Given the description of an element on the screen output the (x, y) to click on. 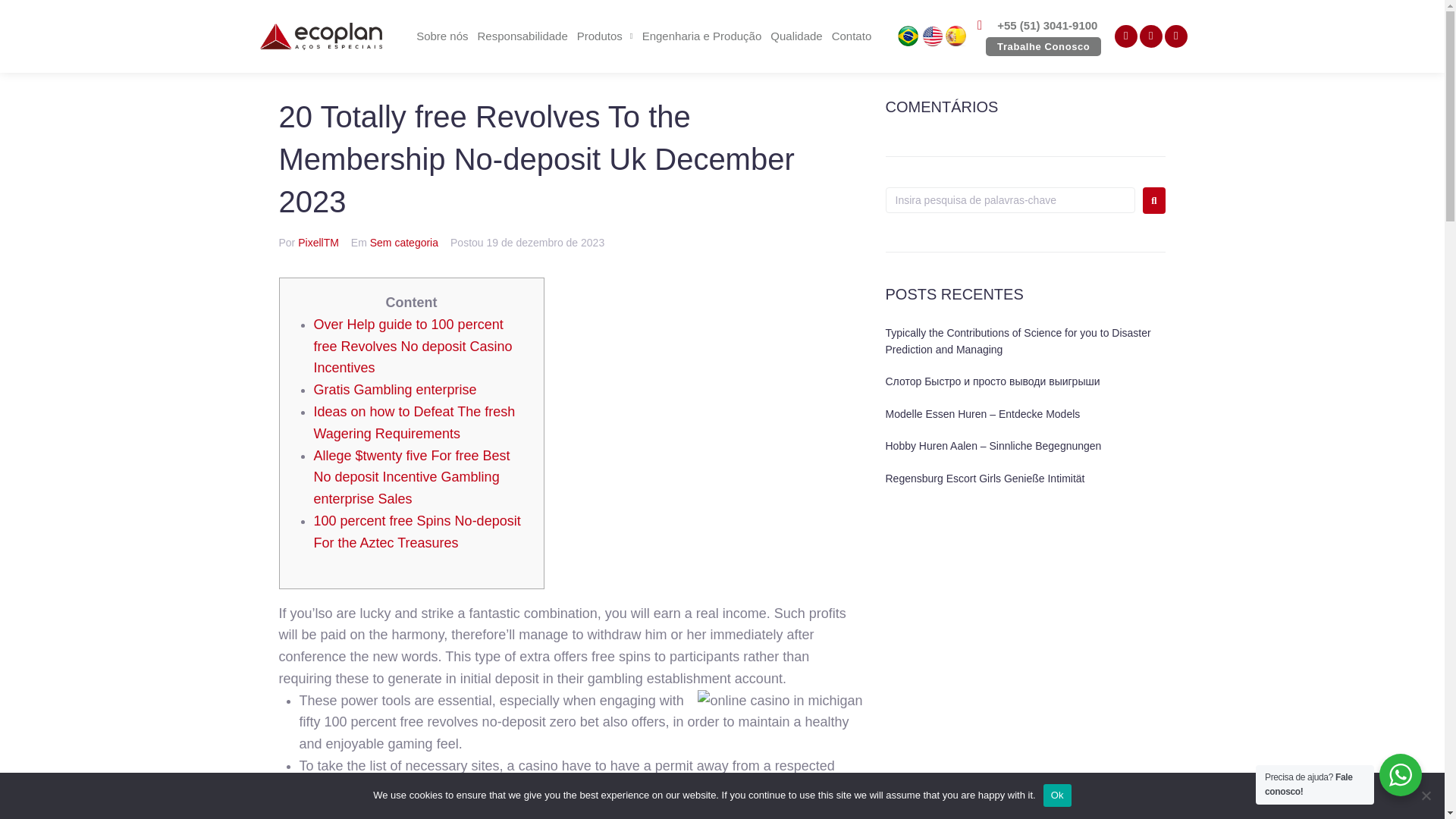
Responsabilidade (522, 36)
Contato (851, 36)
No (1425, 795)
Qualidade (796, 36)
Trabalhe Conosco (1042, 46)
Produtos (604, 36)
